Given the description of an element on the screen output the (x, y) to click on. 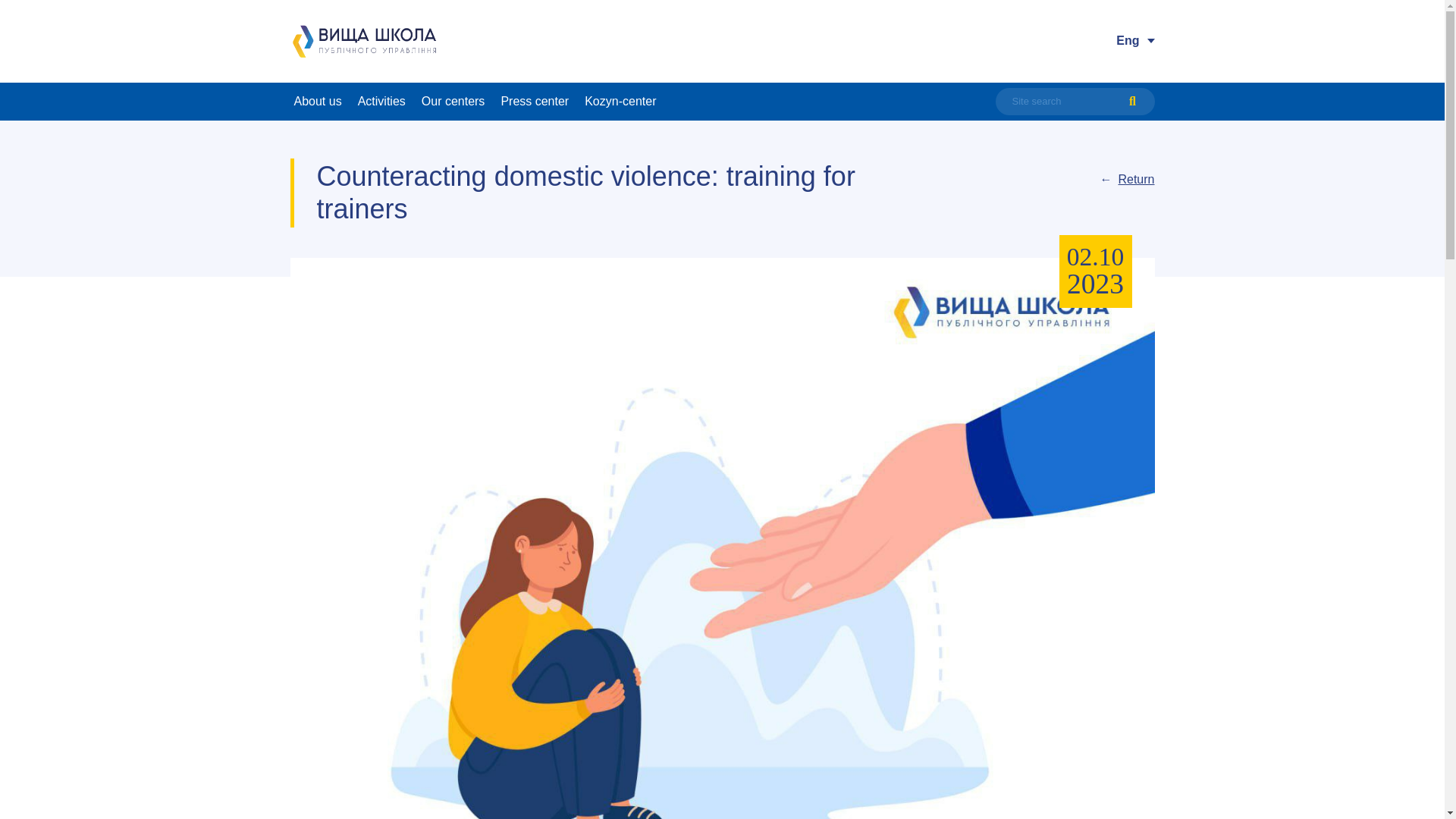
About us (317, 101)
Eng (1135, 40)
Kozyn-center (619, 101)
Press center (534, 101)
Our centers (453, 101)
Activities (381, 101)
